Given the description of an element on the screen output the (x, y) to click on. 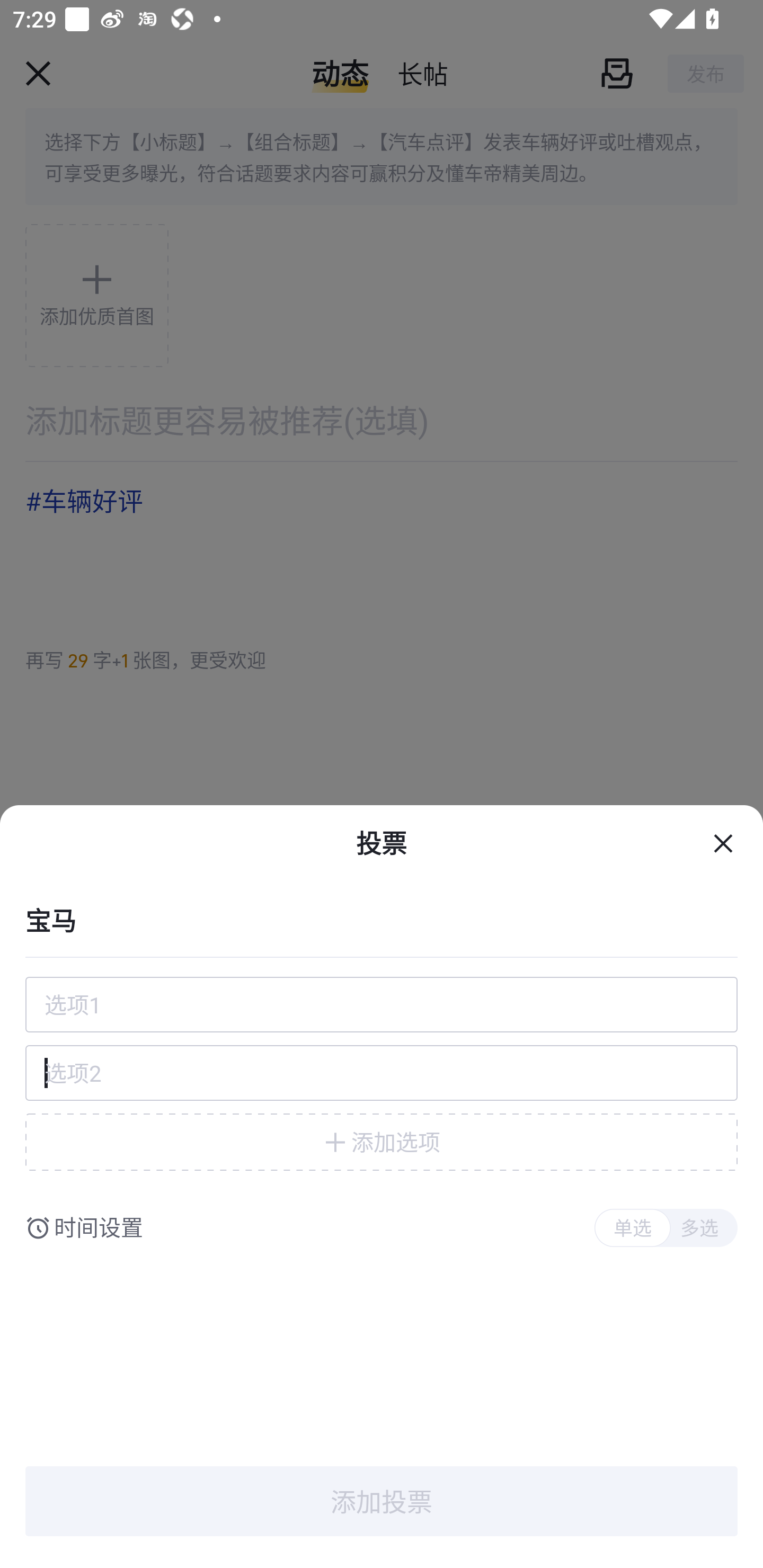
宝马 (381, 918)
选项1 (381, 1003)
选项2 (381, 1072)
添加选项 (381, 1142)
单选 (632, 1227)
多选 (699, 1227)
时间设置 (98, 1227)
